Given the description of an element on the screen output the (x, y) to click on. 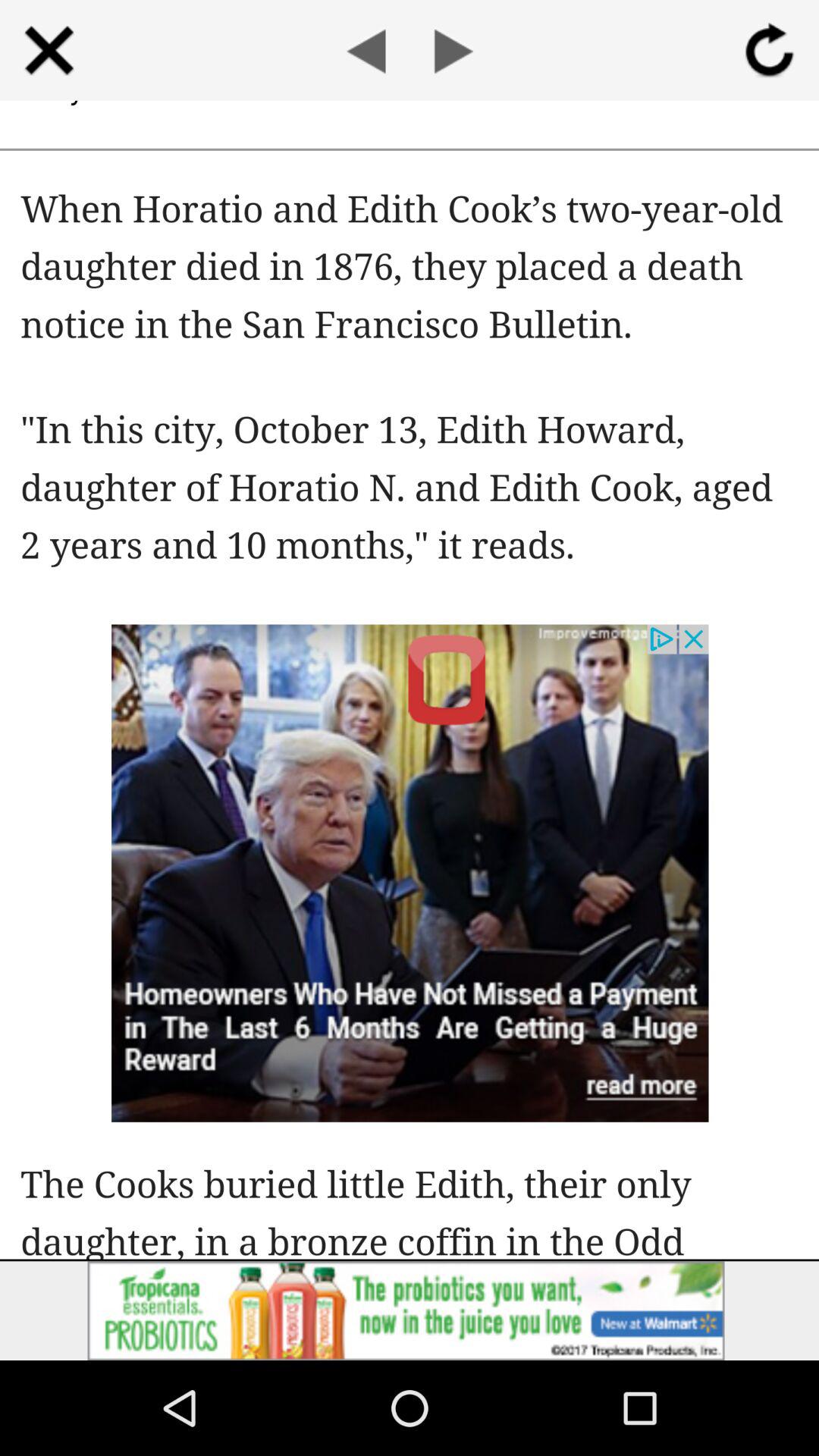
go to next (453, 49)
